Given the description of an element on the screen output the (x, y) to click on. 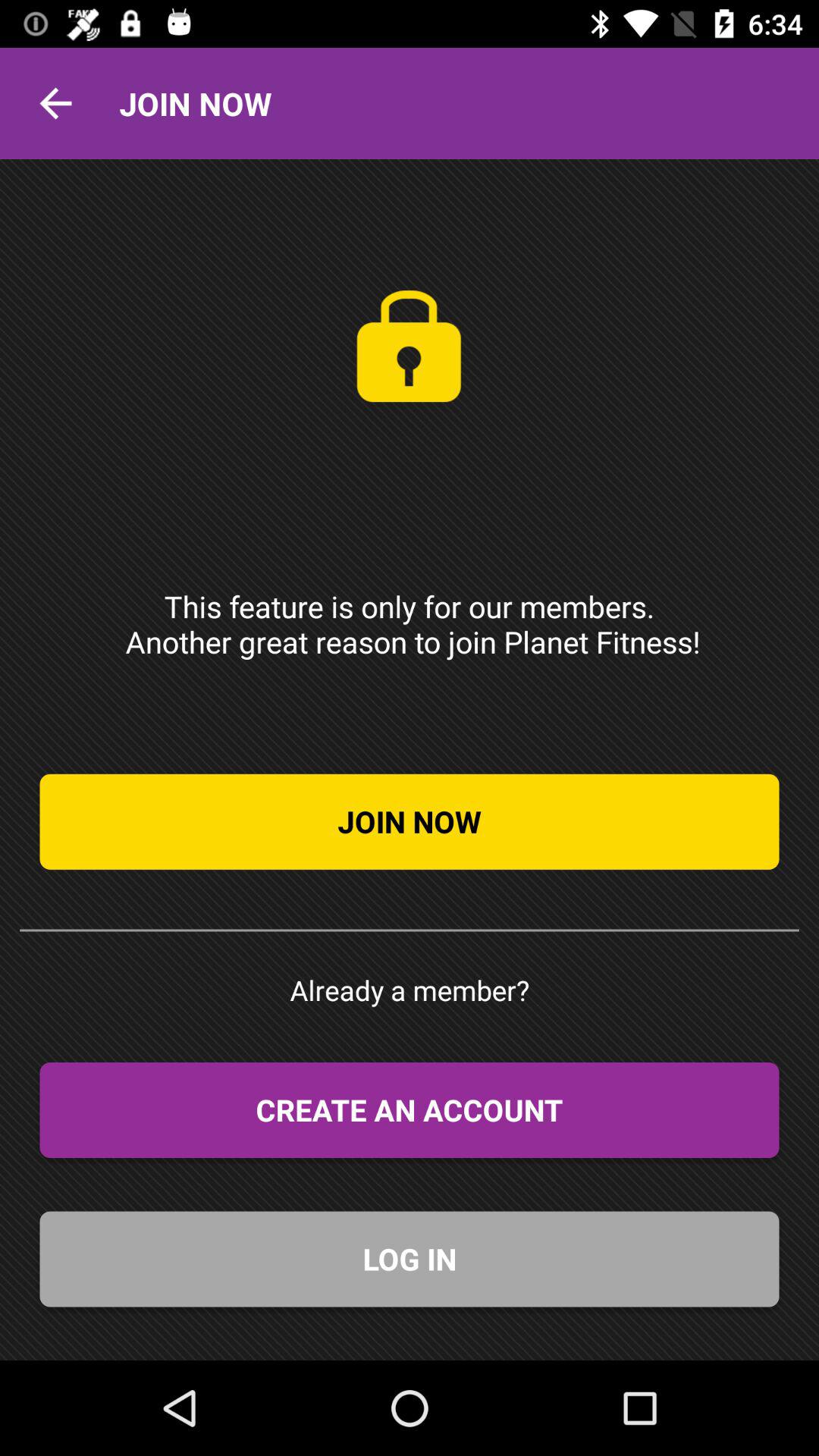
scroll to log in item (409, 1258)
